Given the description of an element on the screen output the (x, y) to click on. 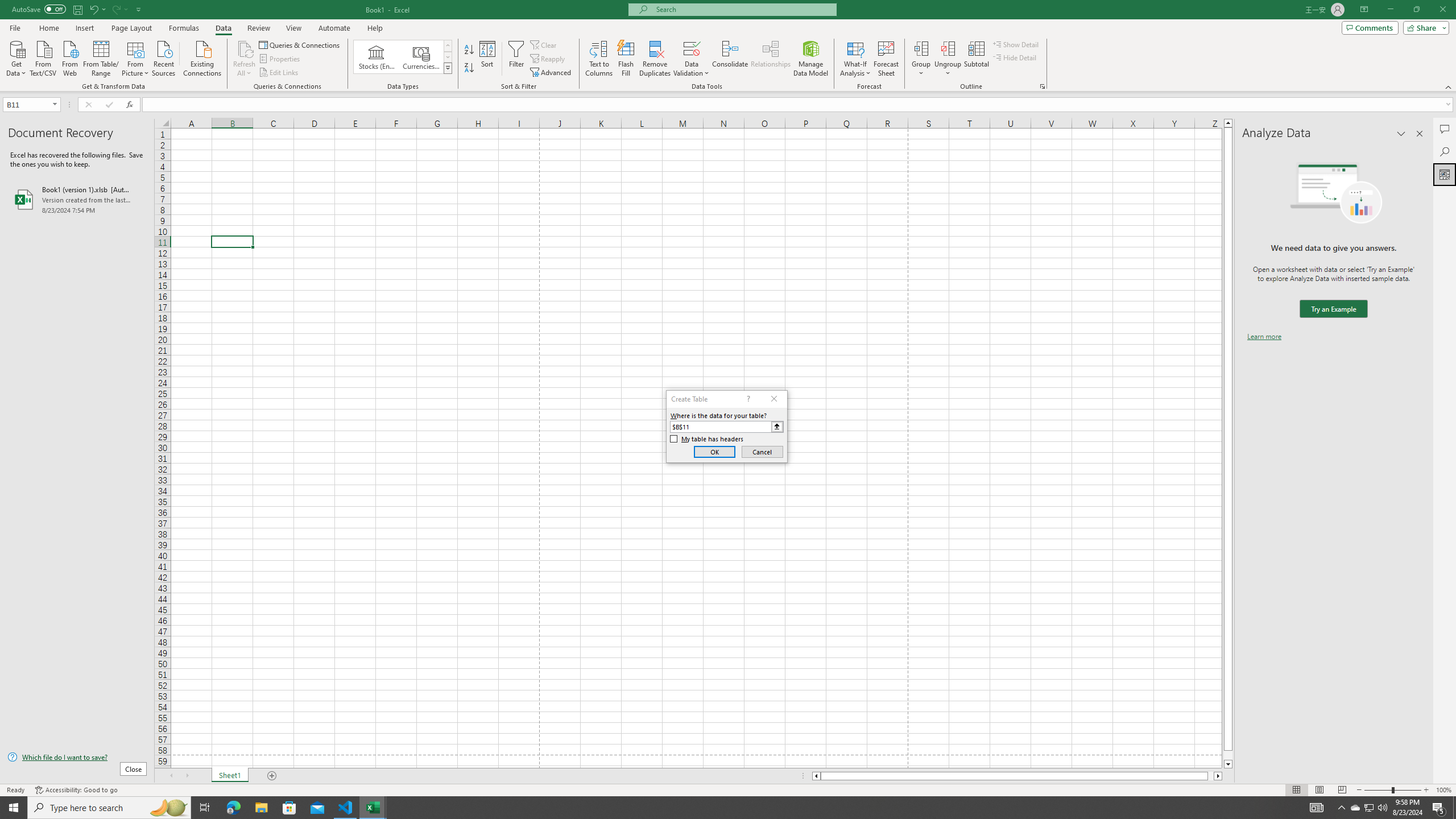
AutomationID: ConvertToLinkedEntity (403, 56)
Search (1444, 151)
Data Types (448, 67)
Flash Fill (625, 58)
